Given the description of an element on the screen output the (x, y) to click on. 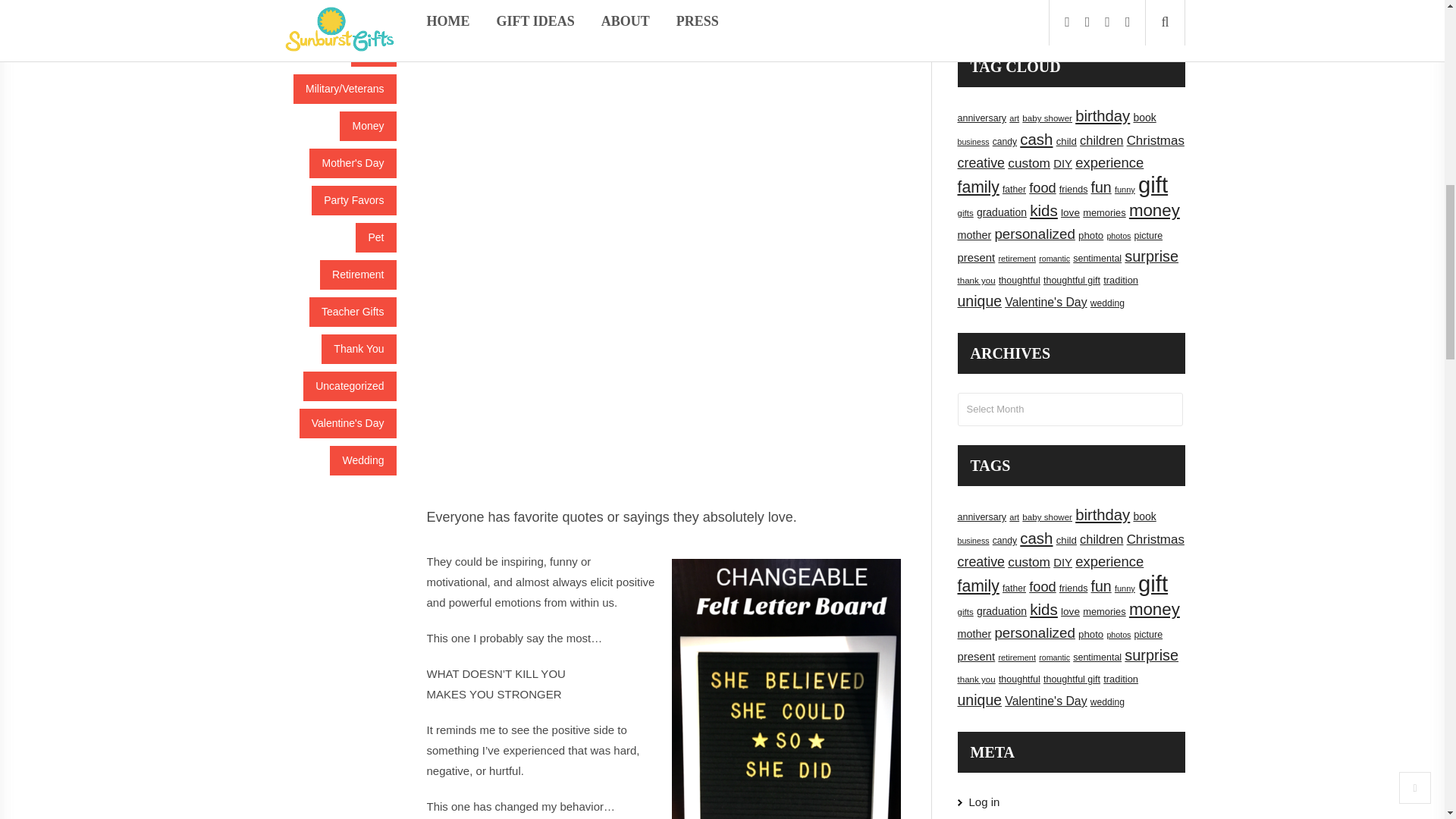
Pet (375, 237)
Party Favors (353, 200)
Housewarming (348, 14)
Mother's Day (352, 163)
Kids (373, 51)
Money (367, 125)
Retirement (358, 274)
